Given the description of an element on the screen output the (x, y) to click on. 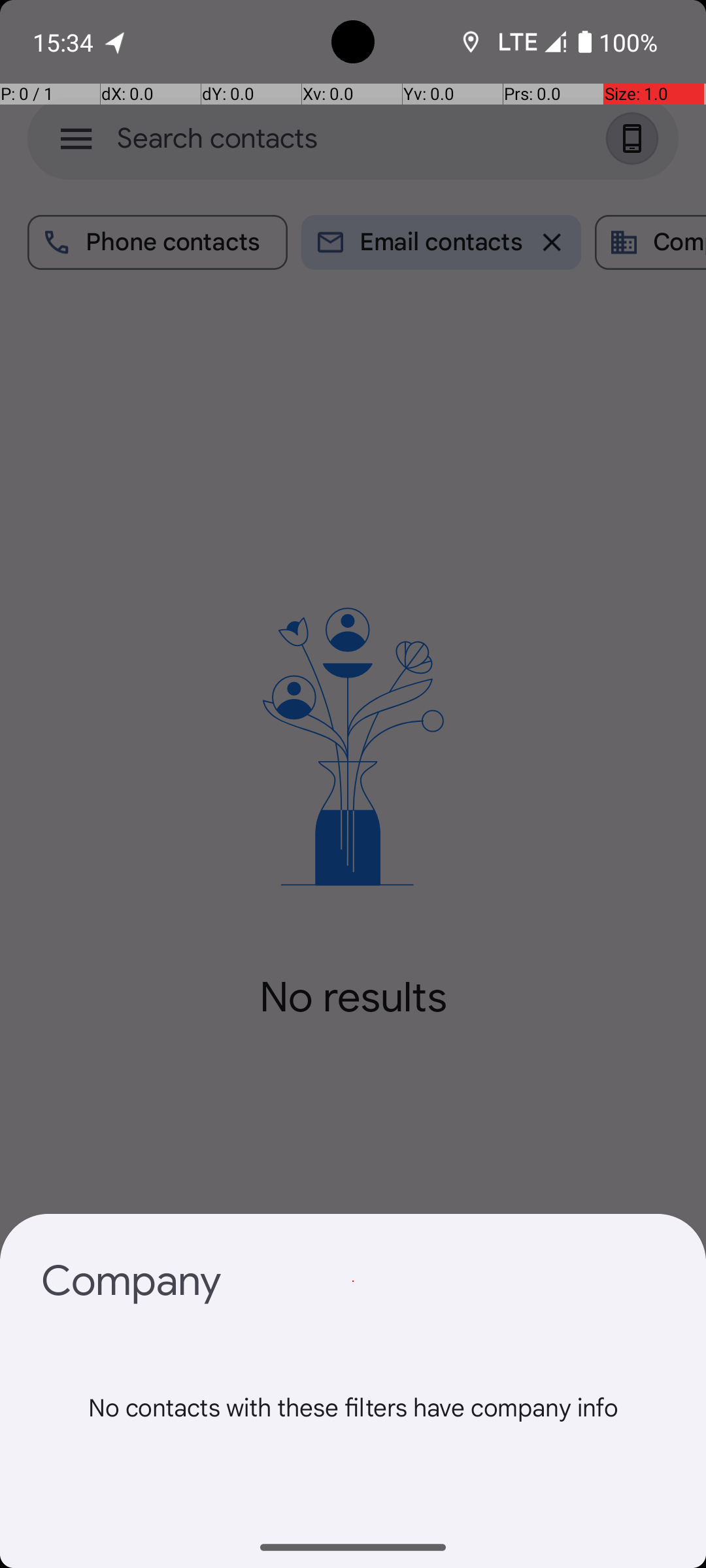
No contacts with these filters have company info Element type: android.widget.TextView (352, 1437)
